Given the description of an element on the screen output the (x, y) to click on. 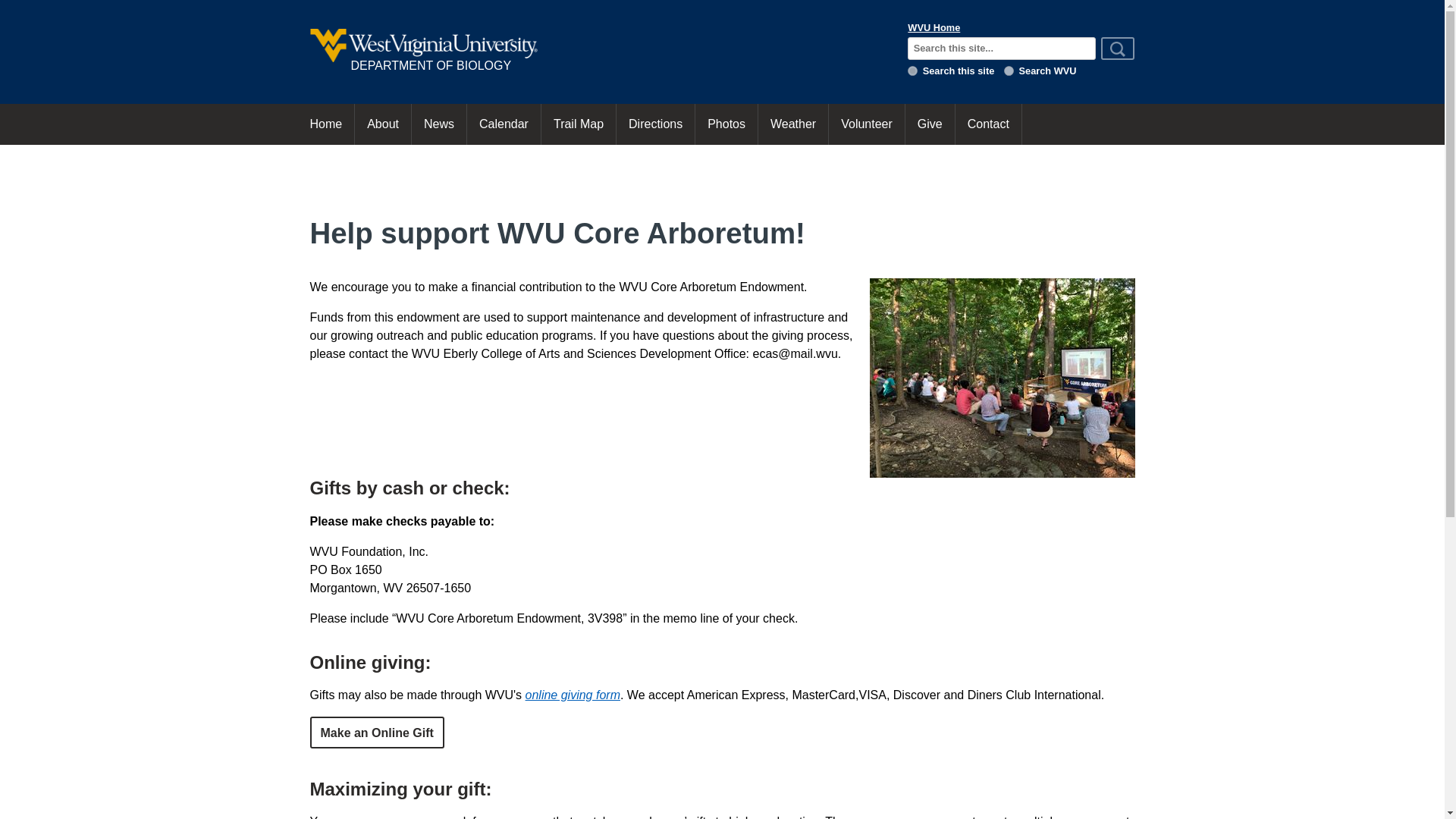
Directions (654, 124)
Home (325, 124)
Give (930, 124)
Weather (793, 124)
Photos (726, 124)
DEPARTMENT OF BIOLOGY (598, 52)
Search (1117, 47)
About (382, 124)
Trail Map (578, 124)
arboretum.wvu.edu (912, 71)
